Given the description of an element on the screen output the (x, y) to click on. 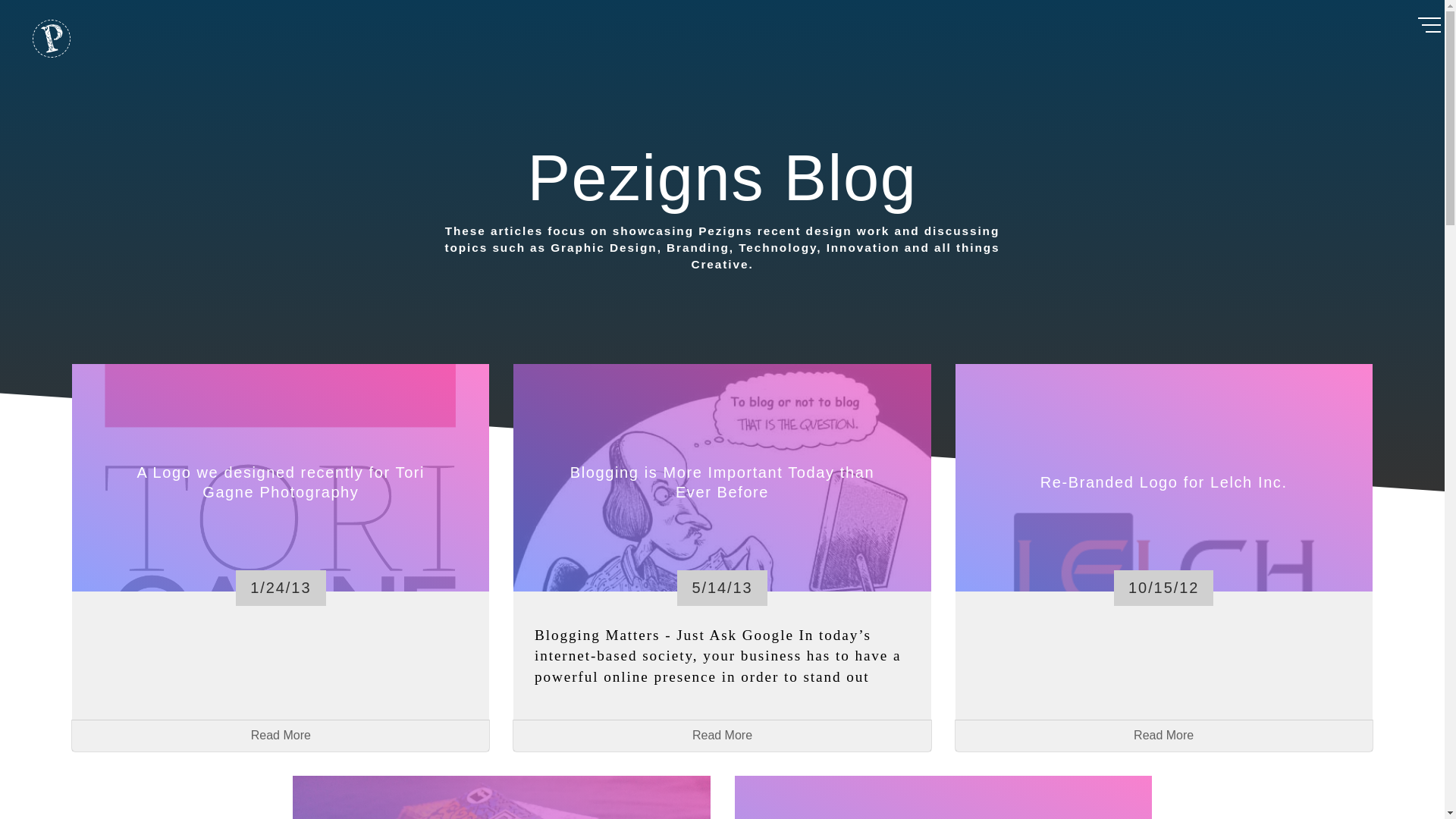
Read More (280, 735)
Read More (721, 735)
Read More (1164, 735)
